Given the description of an element on the screen output the (x, y) to click on. 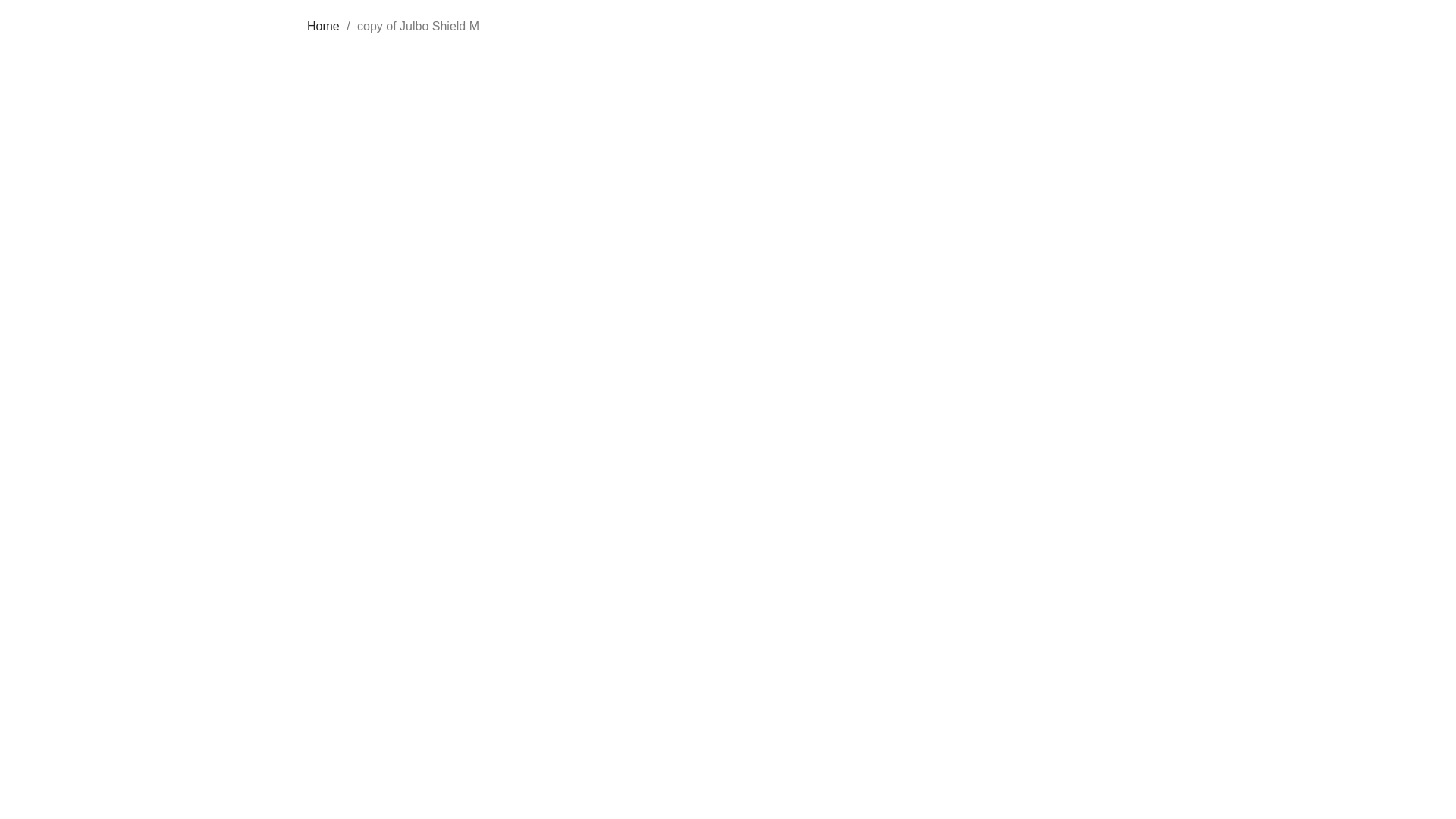
Home Element type: text (323, 25)
